Given the description of an element on the screen output the (x, y) to click on. 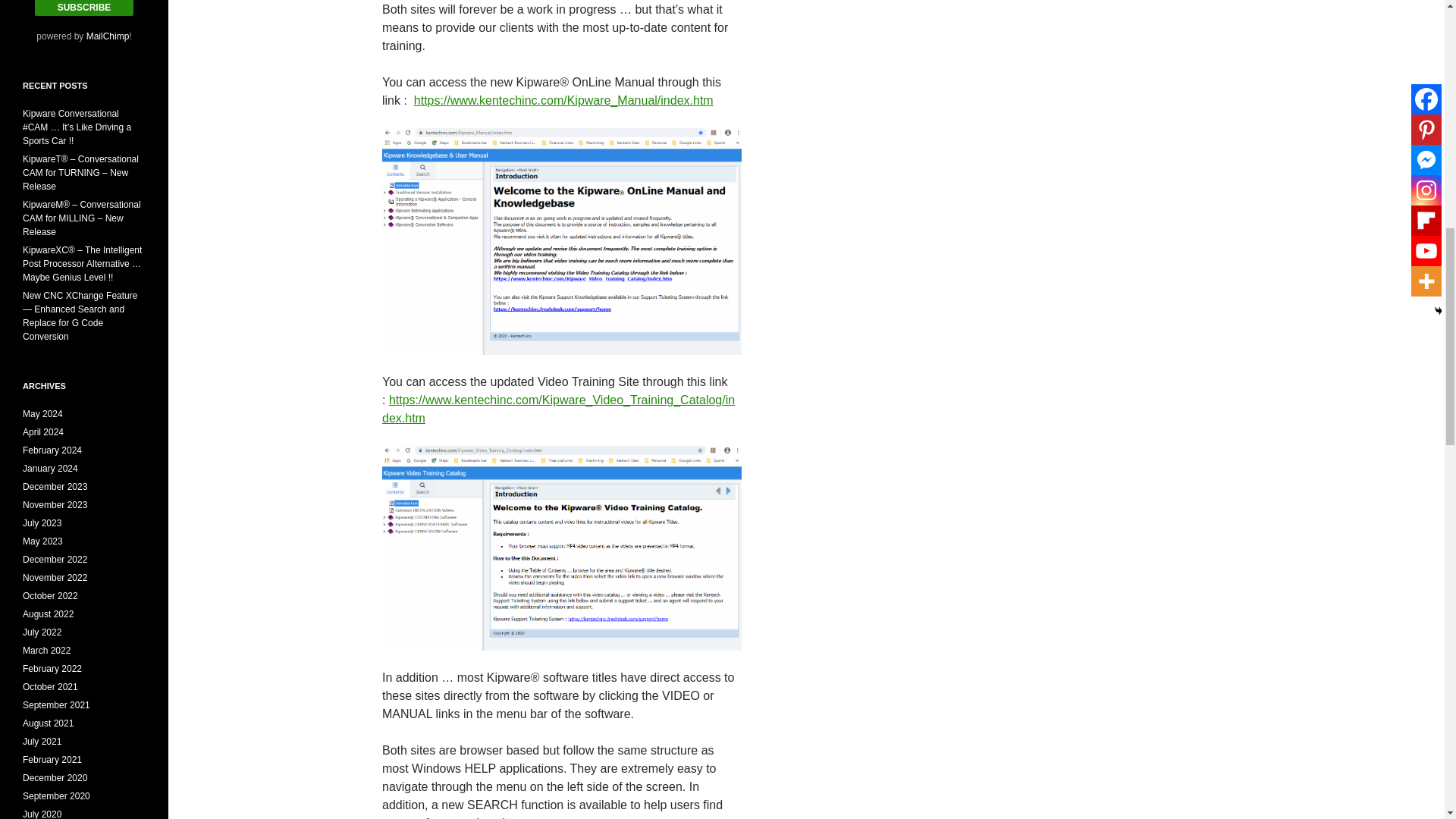
Subscribe (83, 7)
